Given the description of an element on the screen output the (x, y) to click on. 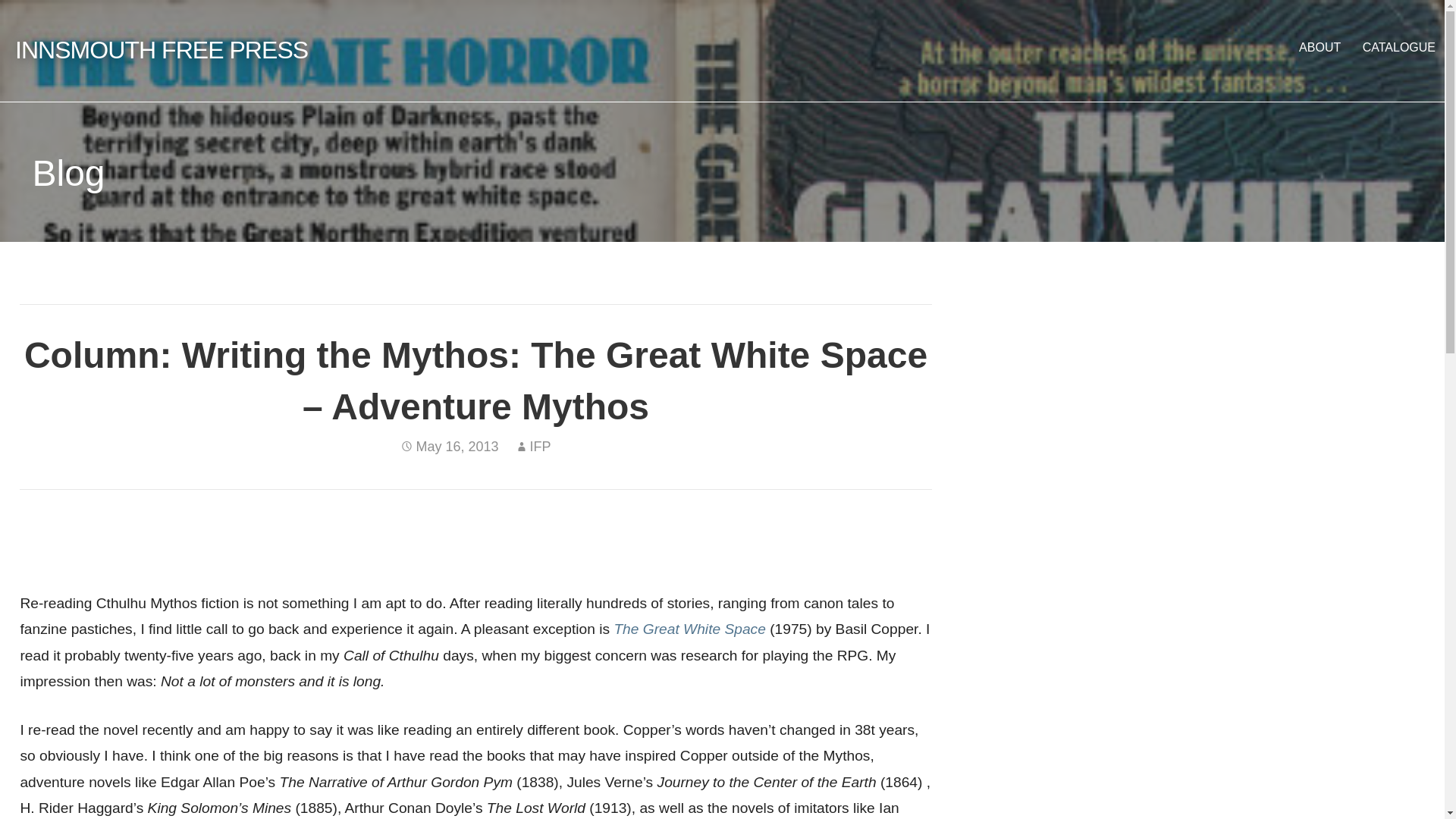
IFP (540, 446)
The Great White Space (688, 628)
Posts by IFP (540, 446)
INNSMOUTH FREE PRESS (160, 49)
